Given the description of an element on the screen output the (x, y) to click on. 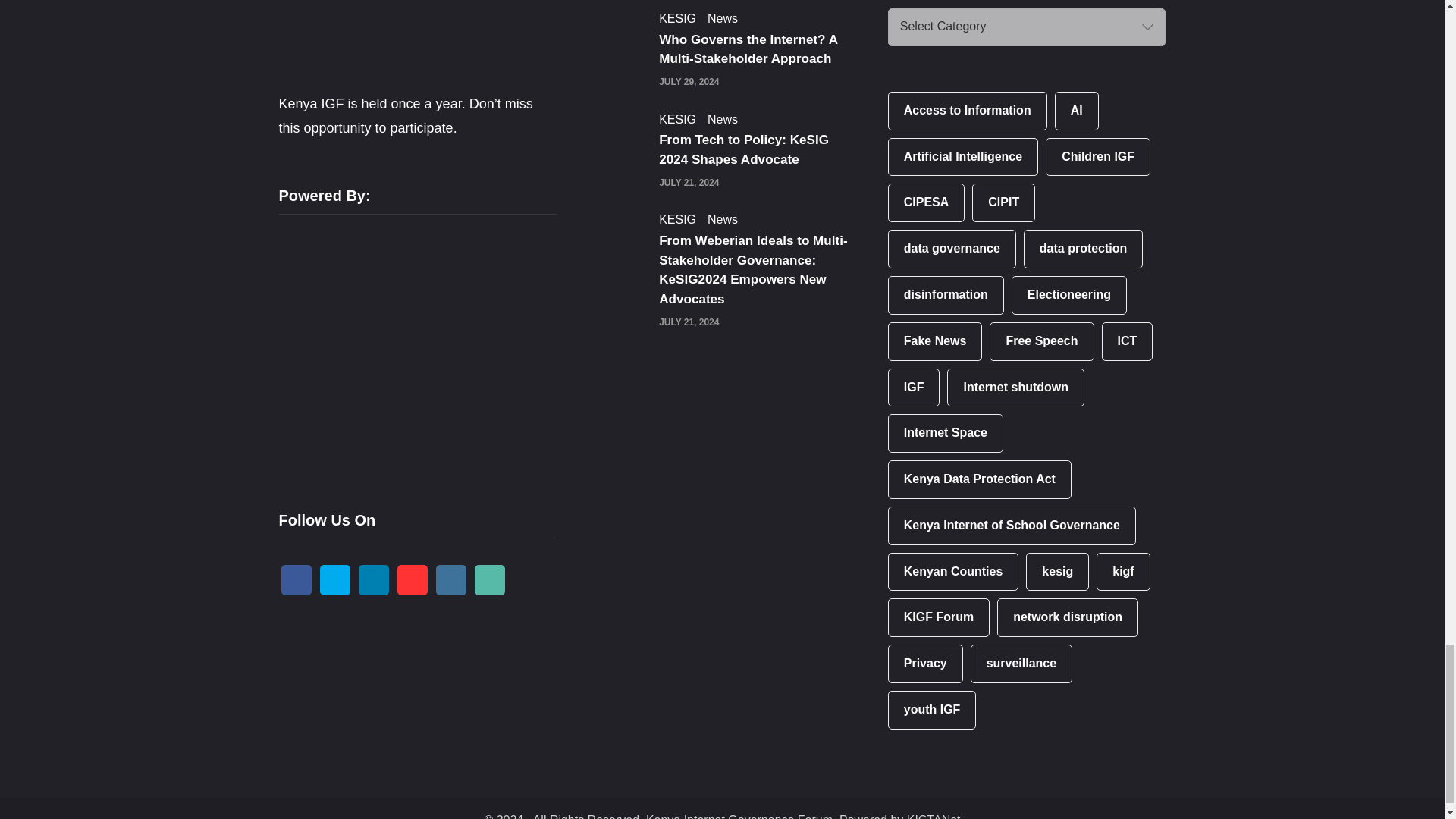
linkedin (373, 580)
twitter (335, 580)
facebook (296, 580)
youtube (412, 580)
Powered By: (392, 350)
instagram (450, 580)
tiktok (489, 580)
